Given the description of an element on the screen output the (x, y) to click on. 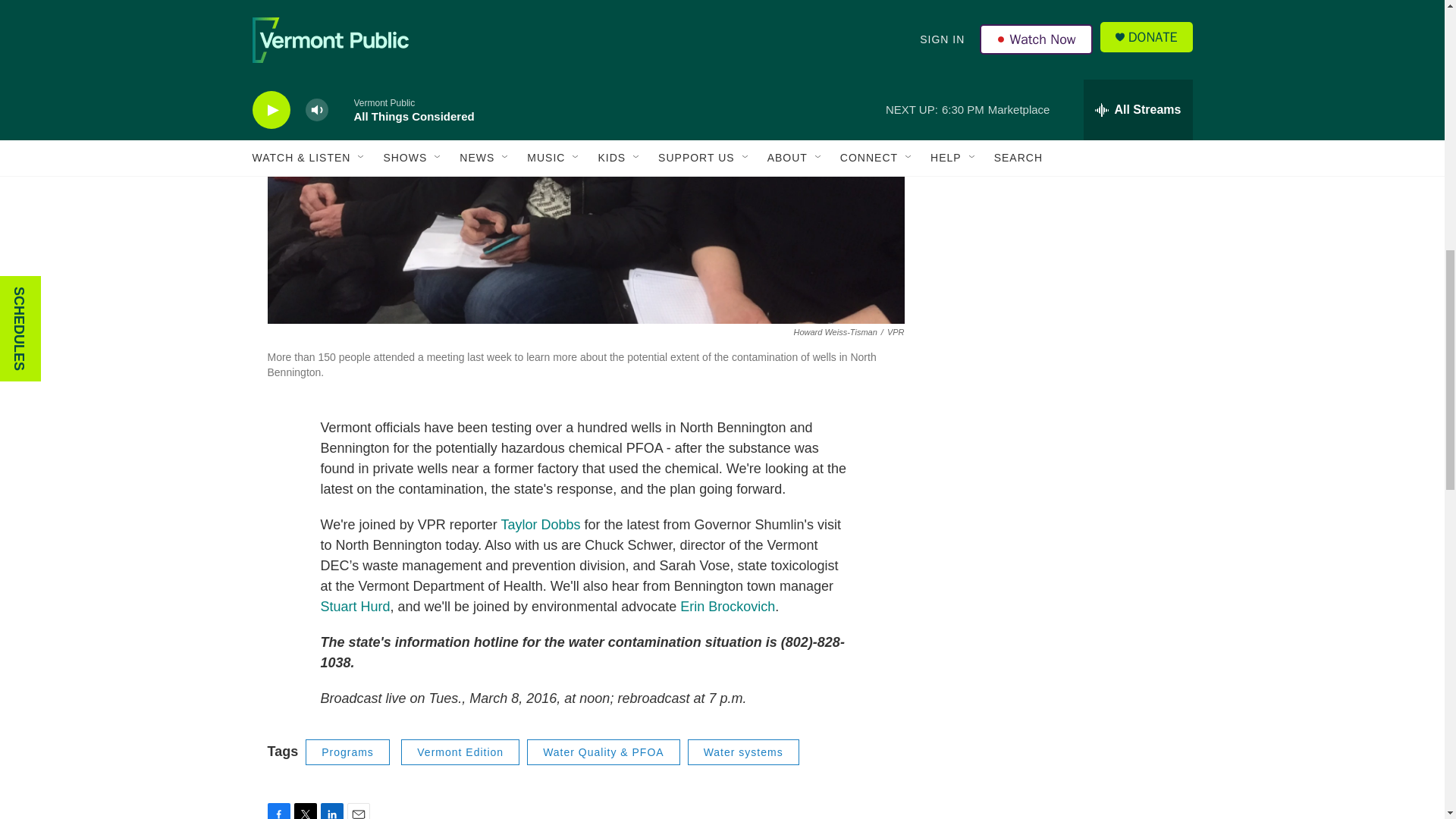
3rd party ad content (1062, 124)
3rd party ad content (1062, 343)
